Given the description of an element on the screen output the (x, y) to click on. 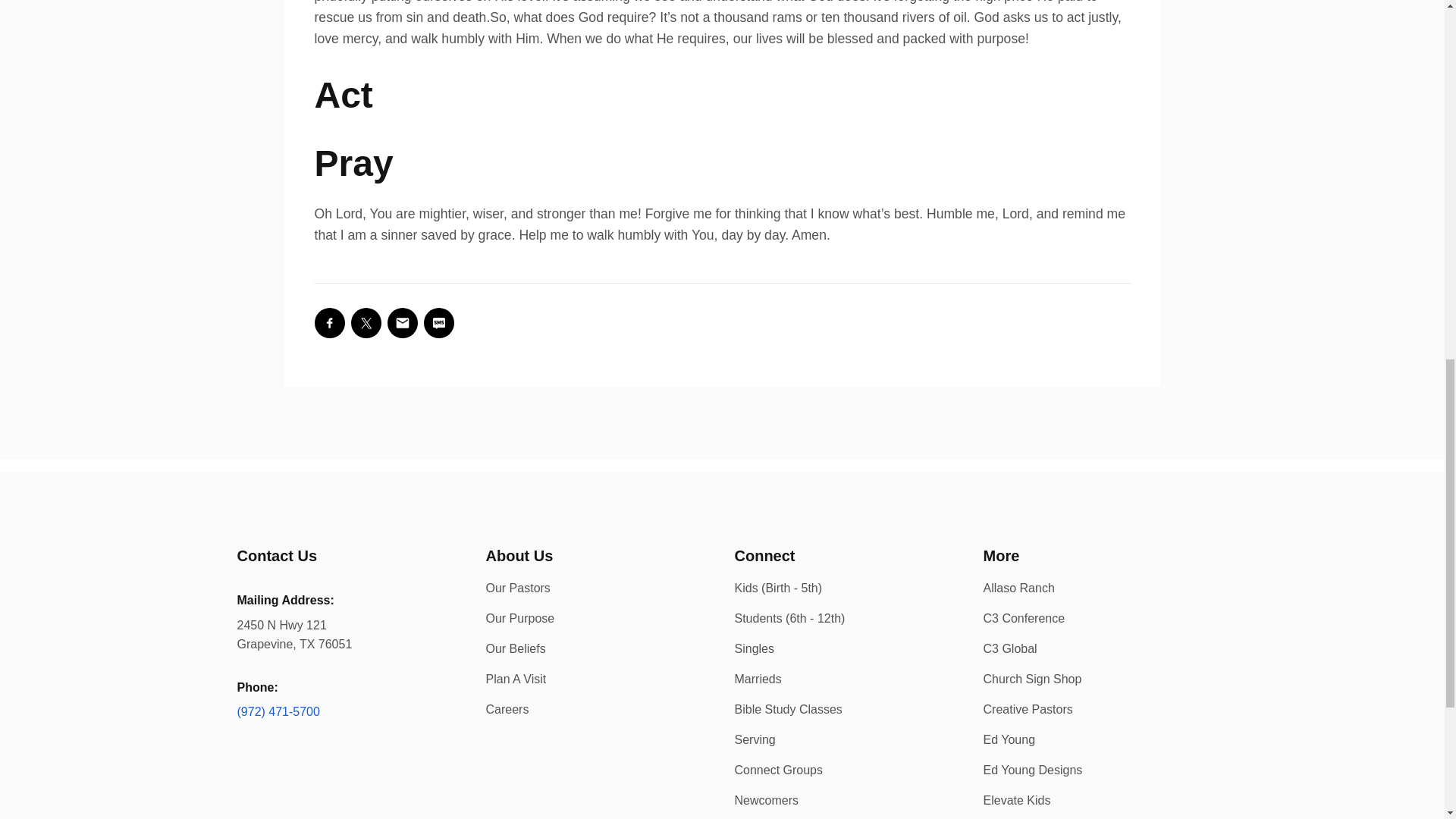
Allaso Ranch (1018, 587)
Church Sign Shop (1031, 678)
Careers (506, 708)
Creative Pastors (1026, 708)
Ed Young Designs (1031, 769)
Serving (753, 739)
Newcomers (765, 799)
Singles (753, 648)
Plan A Visit (515, 678)
Elevate Kids (1015, 799)
Our Purpose (519, 617)
Ed Young (1008, 739)
Our Beliefs (514, 648)
Our Pastors (517, 587)
Bible Study Classes (787, 708)
